Given the description of an element on the screen output the (x, y) to click on. 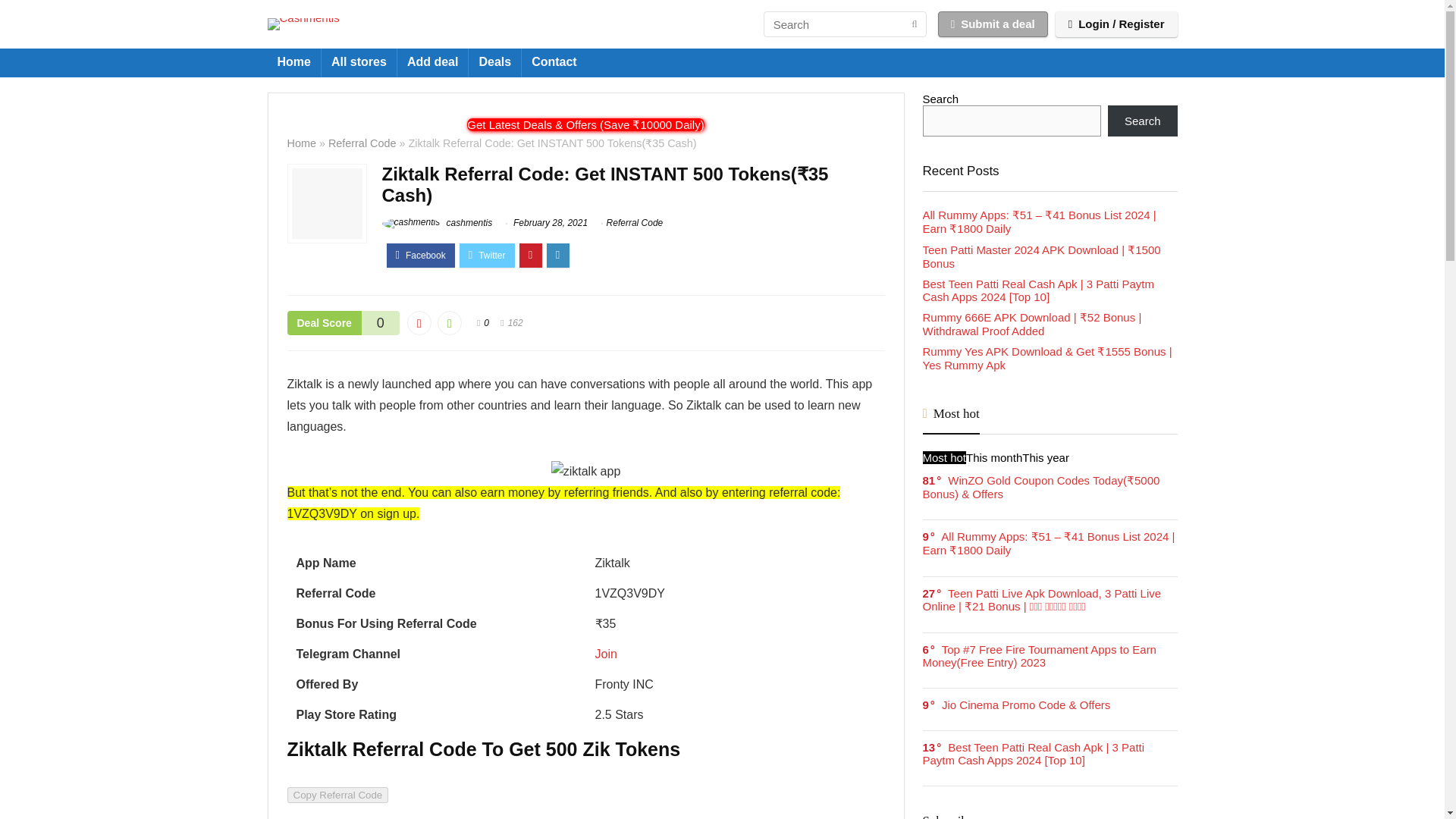
Submit a deal (992, 23)
All stores (358, 62)
Contact (553, 62)
Add deal (432, 62)
Home (300, 143)
Join (604, 653)
Deals (494, 62)
Home (293, 62)
Copy Referral Code (337, 795)
Vote down (418, 322)
